Given the description of an element on the screen output the (x, y) to click on. 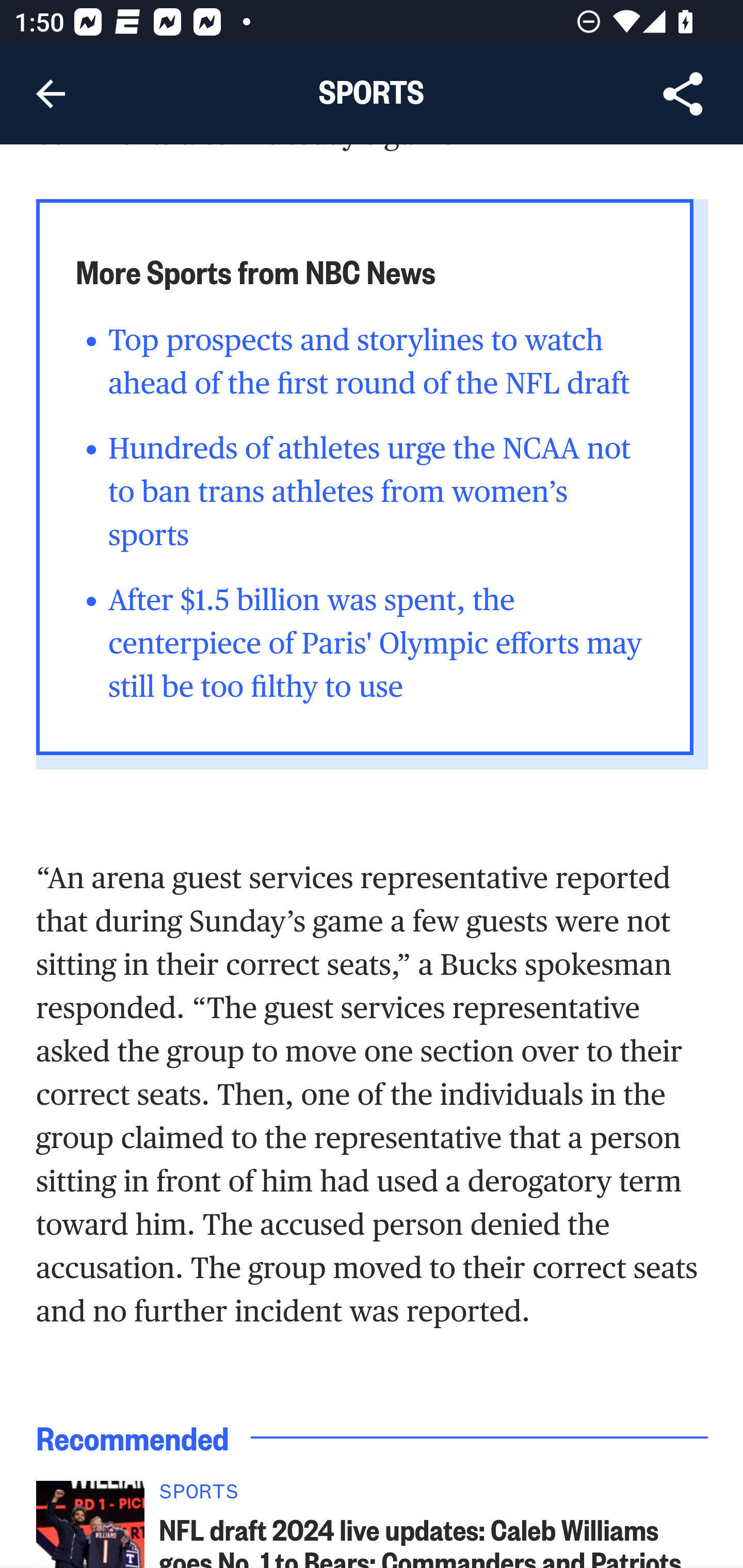
Navigate up (50, 93)
Share Article, button (683, 94)
SPORTS (434, 1498)
nfl-draft-2024-live-updates-rcna148996 (90, 1524)
